Given the description of an element on the screen output the (x, y) to click on. 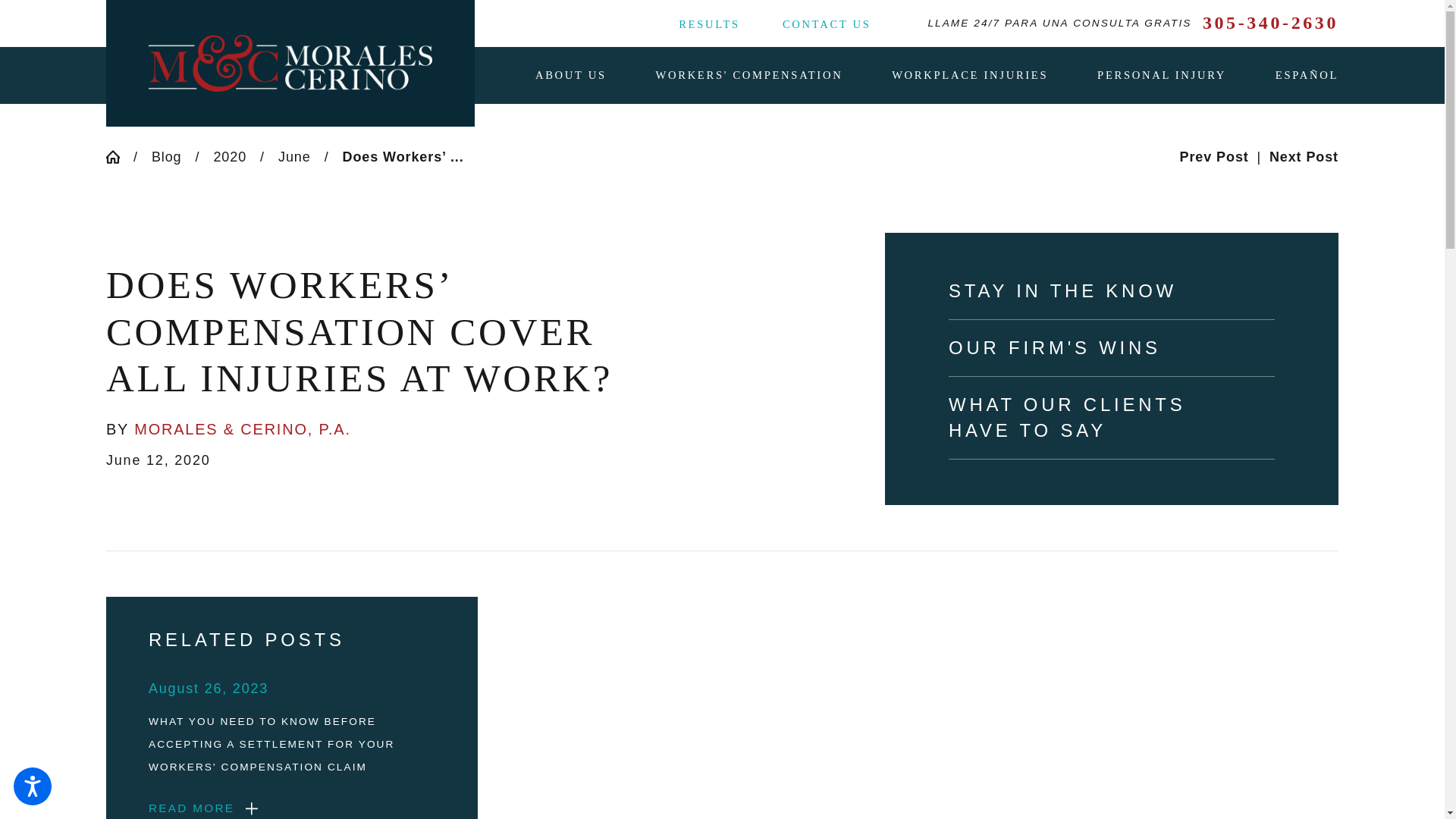
CONTACT US (826, 24)
ABOUT US (571, 75)
305-340-2630 (1270, 23)
RESULTS (708, 24)
Open the accessibility options menu (31, 786)
Go Home (119, 156)
WORKERS' COMPENSATION (749, 75)
